Given the description of an element on the screen output the (x, y) to click on. 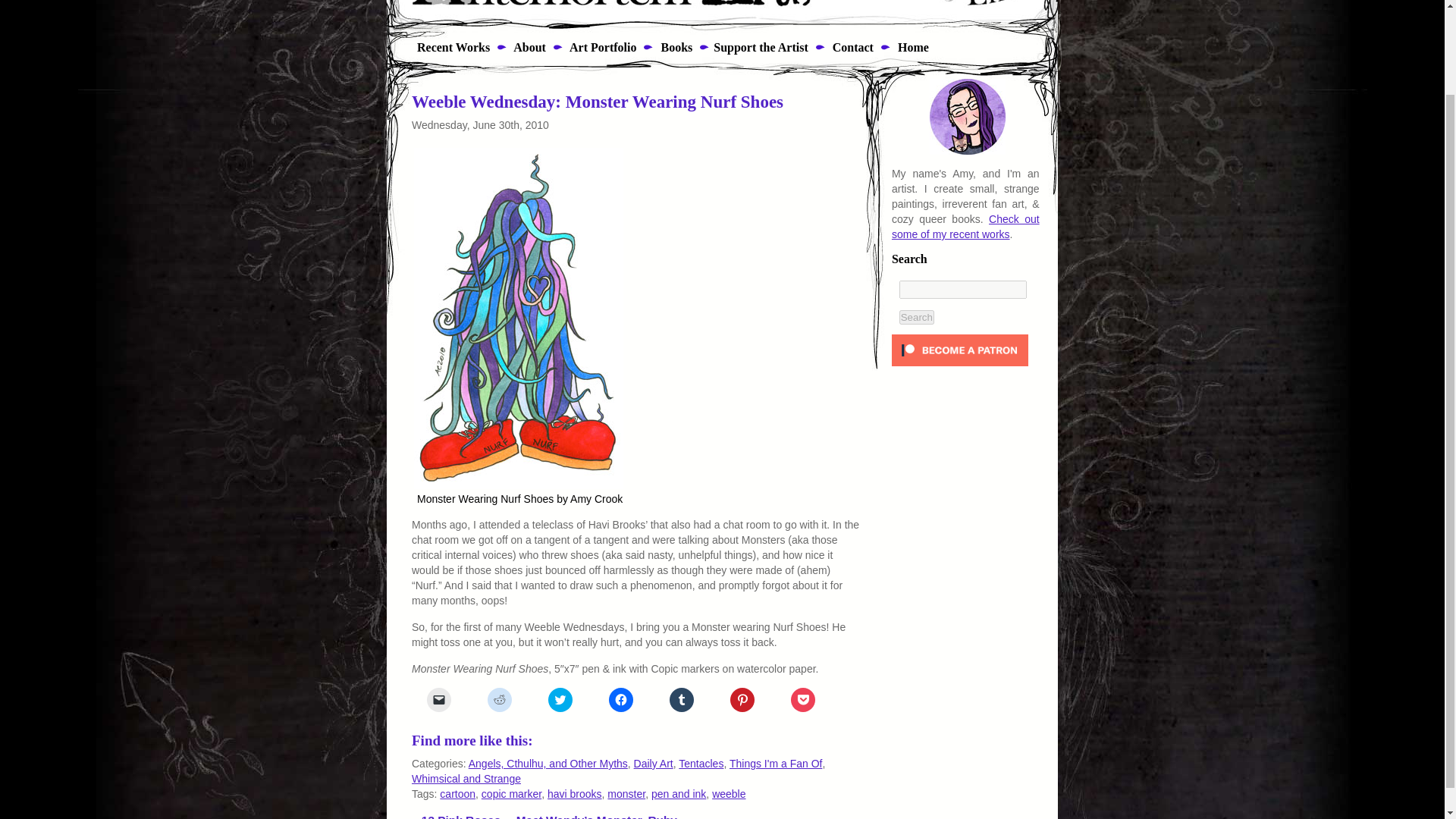
Things I'm a Fan Of (775, 763)
Check out some of my recent works (965, 226)
Tentacles (700, 763)
Myriad Ways to be Awesome (760, 47)
Talk to Me (851, 47)
 About (528, 47)
Click to share on Pinterest (742, 699)
Click to share on Tumblr (681, 699)
pen and ink (678, 793)
weeble (728, 793)
